Given the description of an element on the screen output the (x, y) to click on. 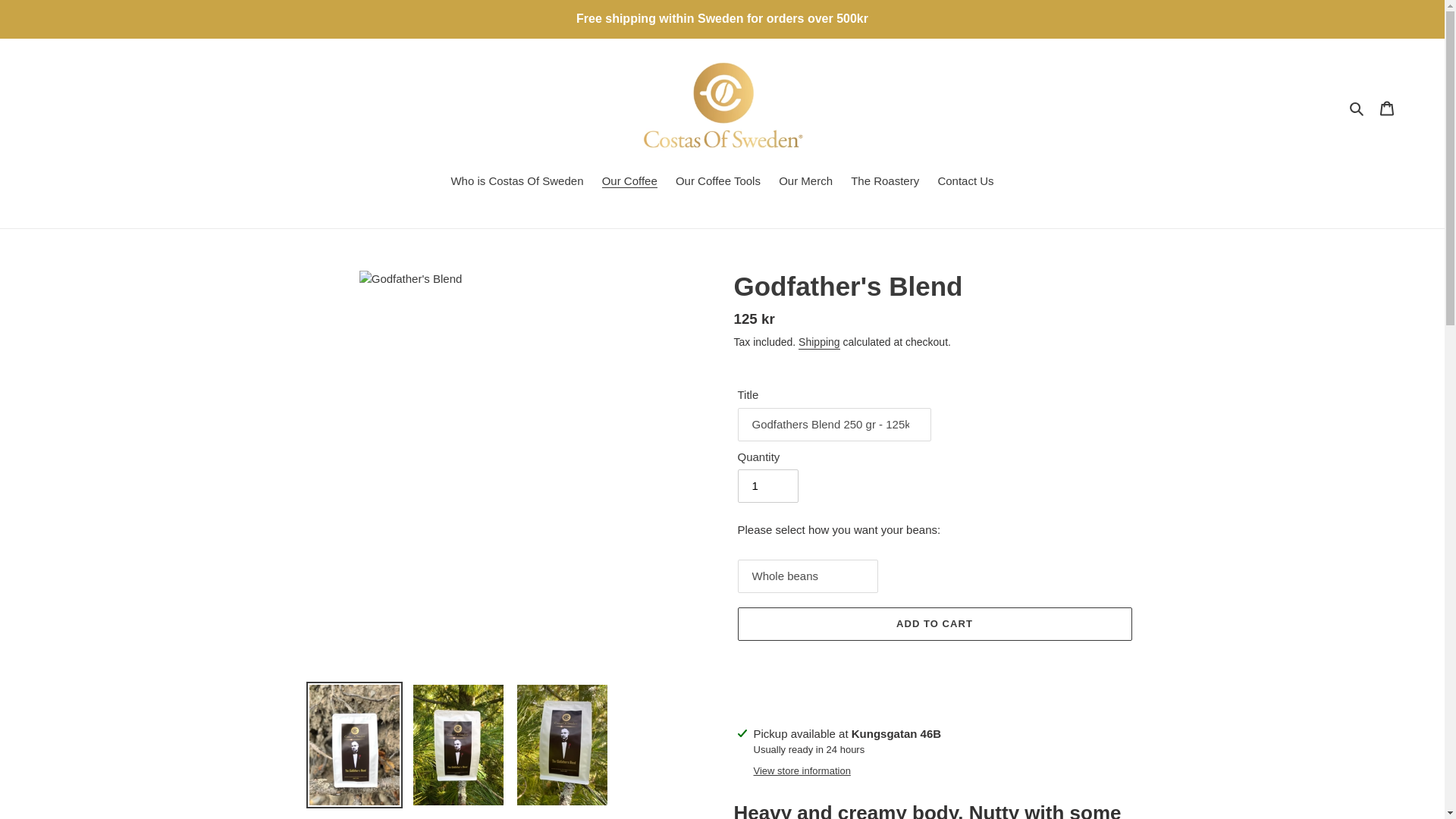
Shipping (818, 342)
Search (1357, 107)
1 (766, 485)
The Roastery (884, 182)
Our Coffee (629, 182)
Who is Costas Of Sweden (516, 182)
Cart (1387, 107)
View store information (802, 770)
Our Merch (805, 182)
Contact Us (965, 182)
